Given the description of an element on the screen output the (x, y) to click on. 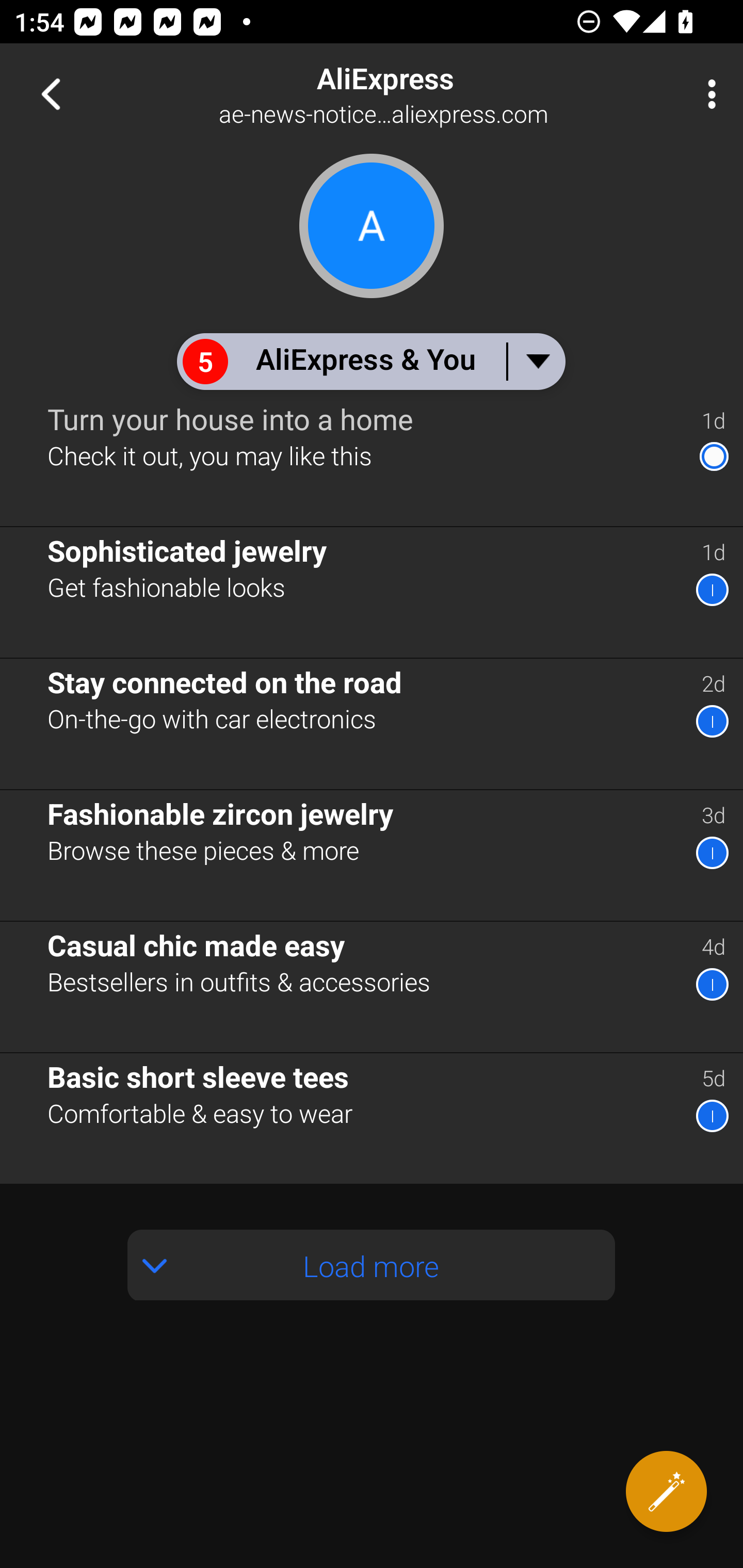
Navigate up (50, 93)
AliExpress ae-news-notice03@mail.aliexpress.com (436, 93)
More Options (706, 93)
5 AliExpress & You (370, 361)
Load more (371, 1264)
